Given the description of an element on the screen output the (x, y) to click on. 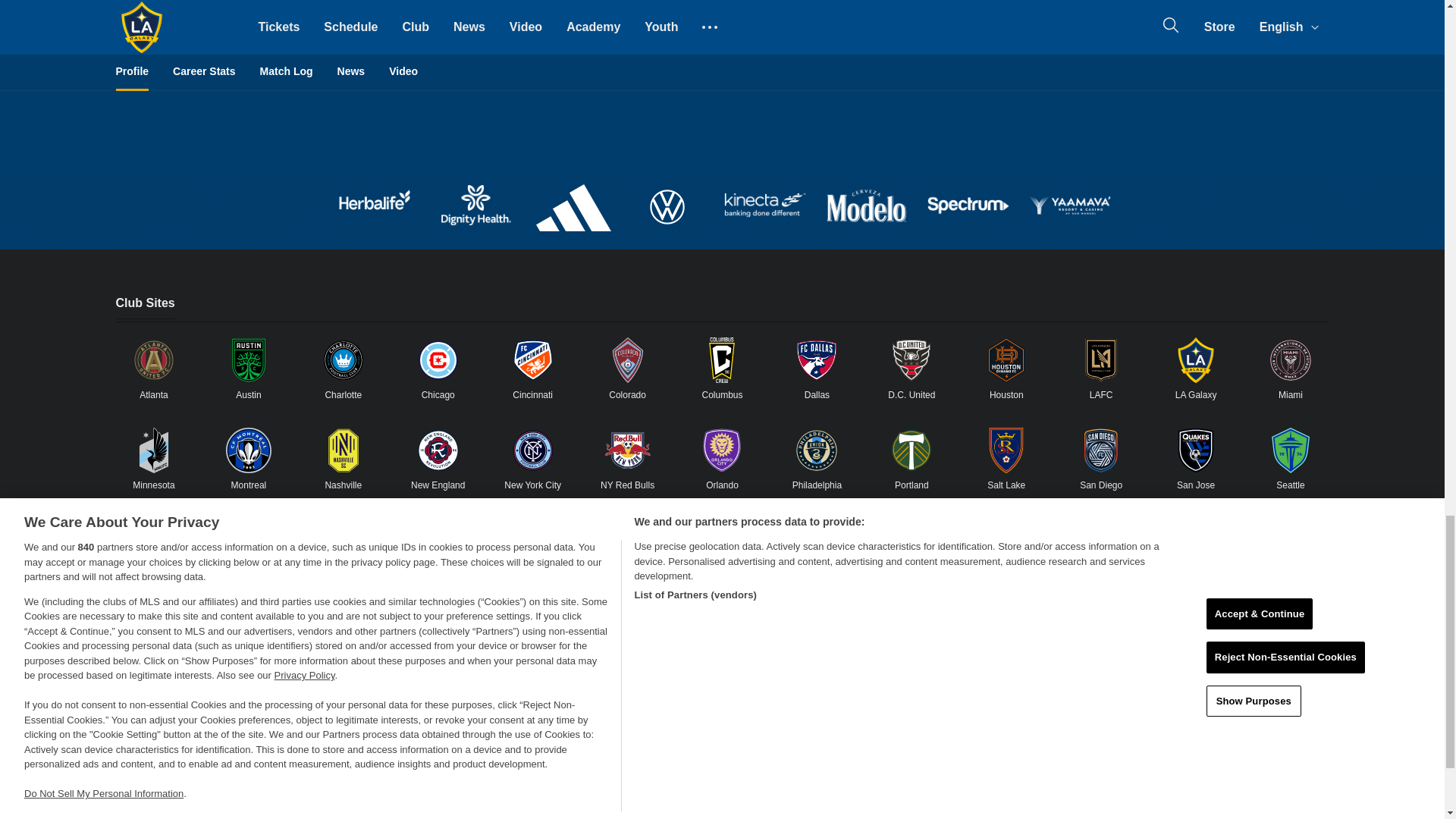
Link to LA Galaxy (1195, 360)
Link to Miami (1290, 360)
Link to Chicago (437, 360)
Link to Columbus (721, 360)
Link to Cincinnati (533, 360)
Link to D.C. United (911, 360)
Link to Houston (1006, 360)
Link to Colorado (627, 360)
Link to Nashville (343, 450)
Link to Minnesota (153, 450)
Link to Austin (247, 360)
Link to Montreal (247, 450)
Link to Charlotte (343, 360)
Link to LAFC (1101, 360)
Link to Dallas (816, 360)
